Given the description of an element on the screen output the (x, y) to click on. 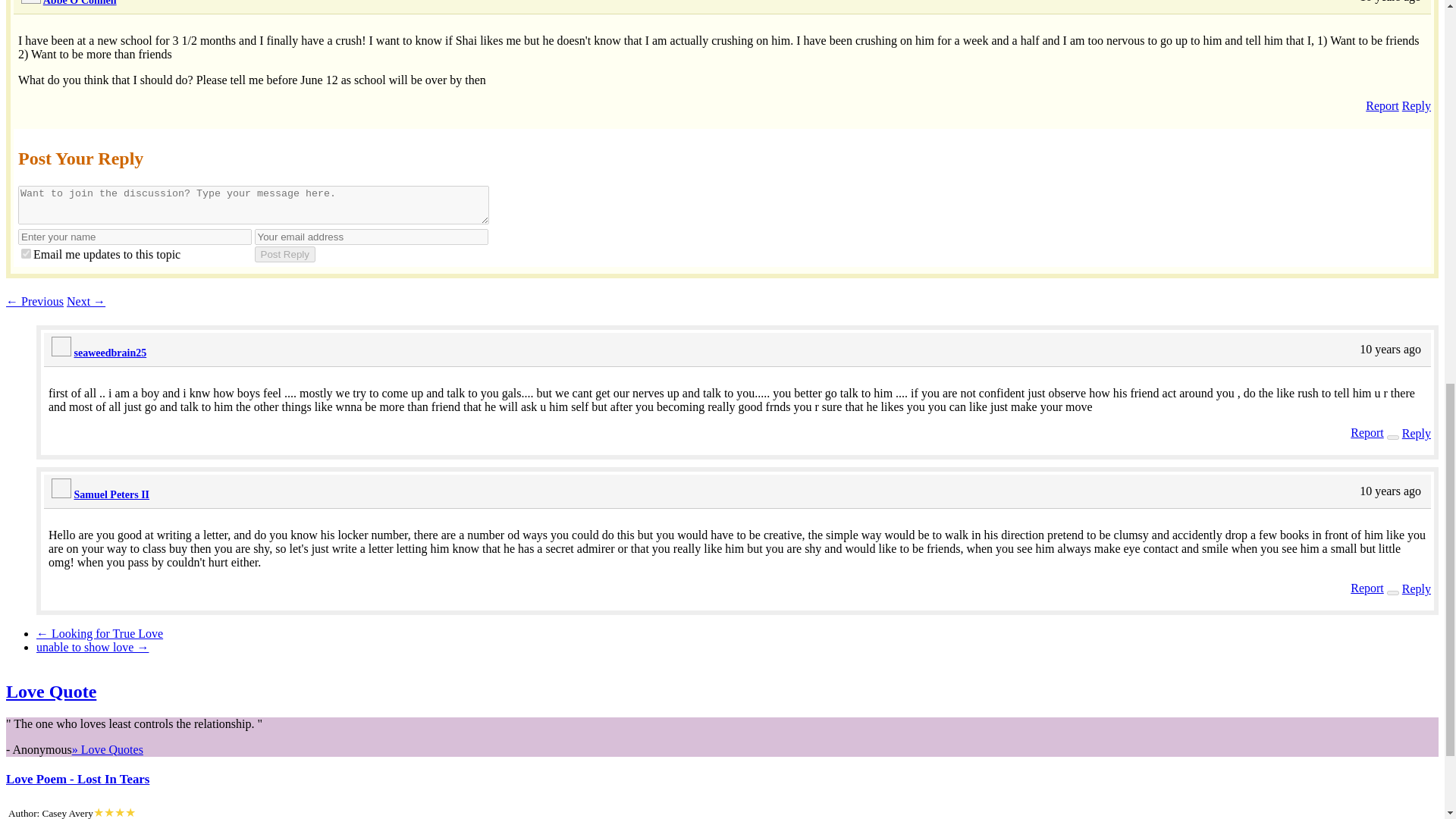
Flag response for review (1367, 587)
Reply to this message (1416, 588)
Looking for True Love (34, 300)
Flag topic for review (1382, 105)
Select this post to be included in your reply (1393, 592)
unable to show love (92, 646)
Reply to this message (1416, 432)
Select this post to be included in your reply (1393, 436)
Flag response for review (1367, 431)
on (25, 253)
Looking for True Love (99, 633)
Reply to this topic (1416, 105)
Post Reply (284, 254)
unable to show love (85, 300)
